Given the description of an element on the screen output the (x, y) to click on. 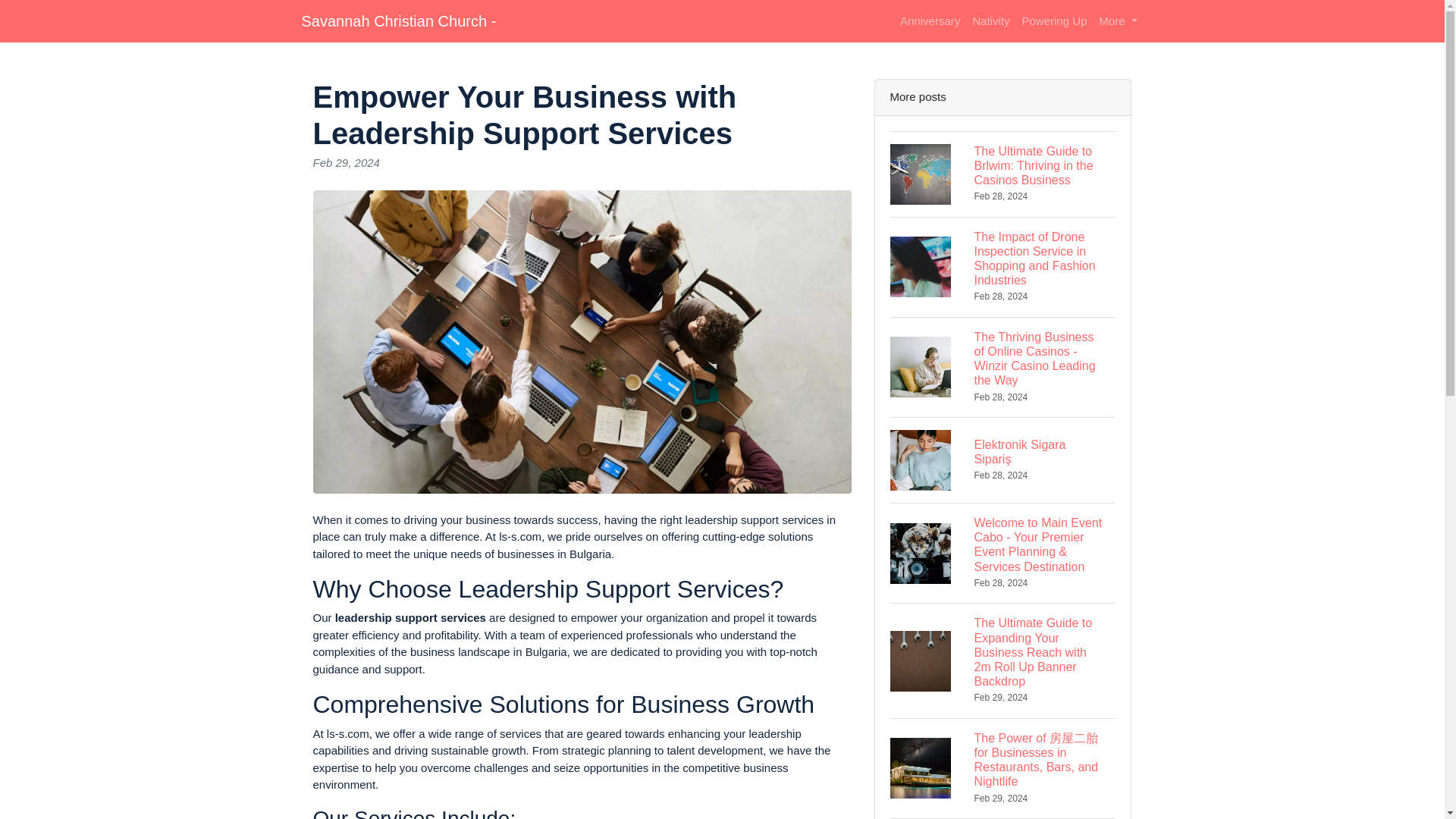
Nativity (990, 21)
More (1117, 21)
Savannah Christian Church - (398, 20)
Anniversary (929, 21)
Powering Up (1053, 21)
